Given the description of an element on the screen output the (x, y) to click on. 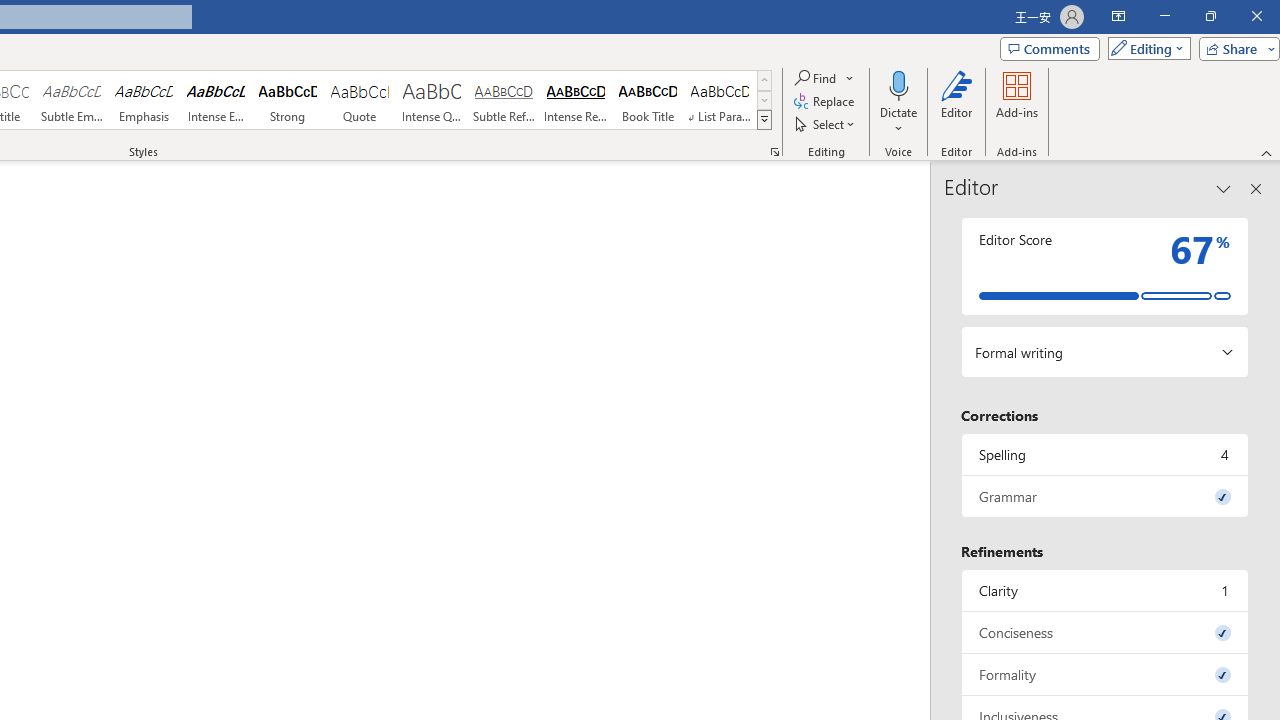
Clarity, 1 issue. Press space or enter to review items. (1105, 590)
Emphasis (143, 100)
